Given the description of an element on the screen output the (x, y) to click on. 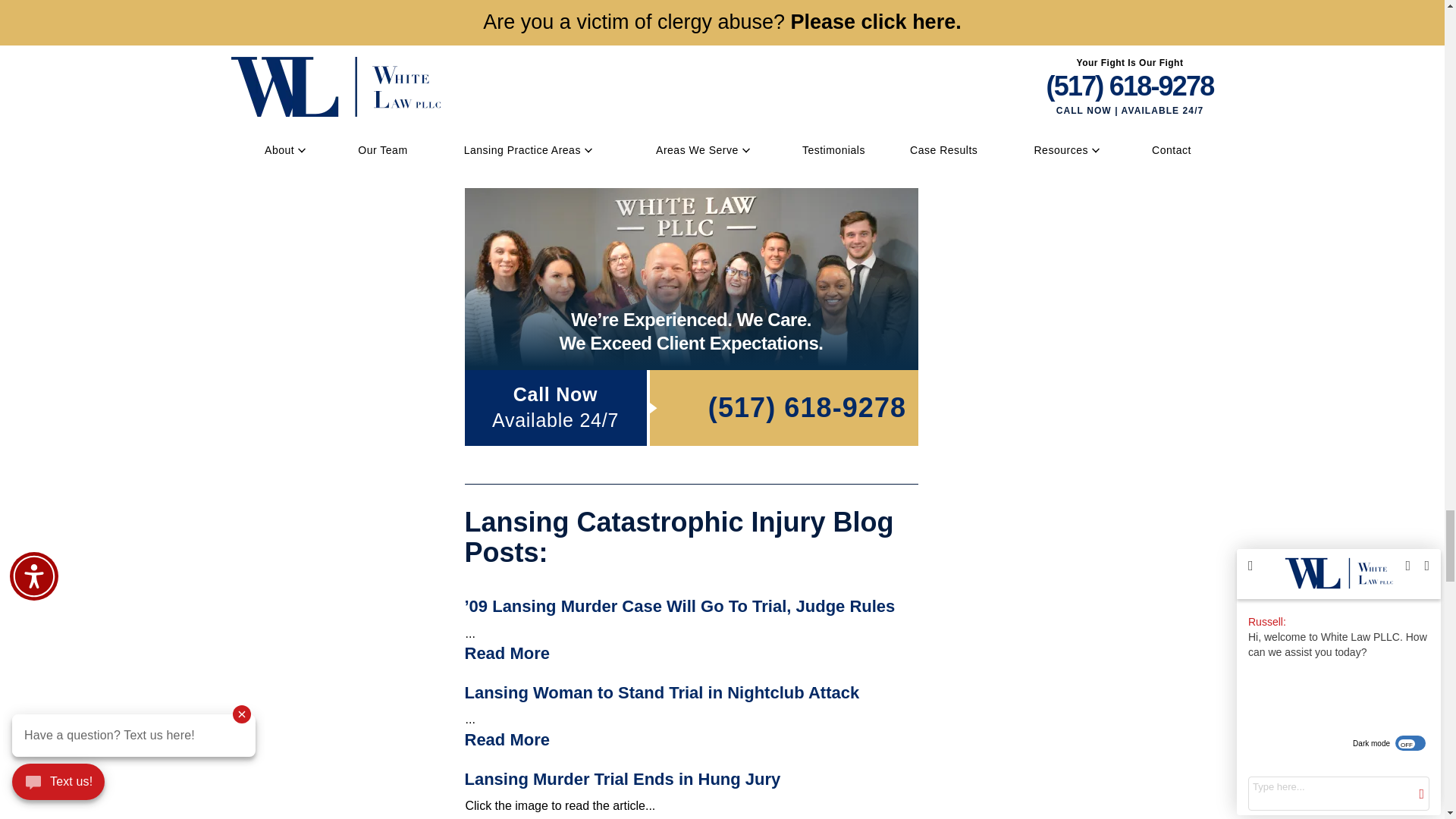
Call to White Law - PLLC (783, 407)
